Given the description of an element on the screen output the (x, y) to click on. 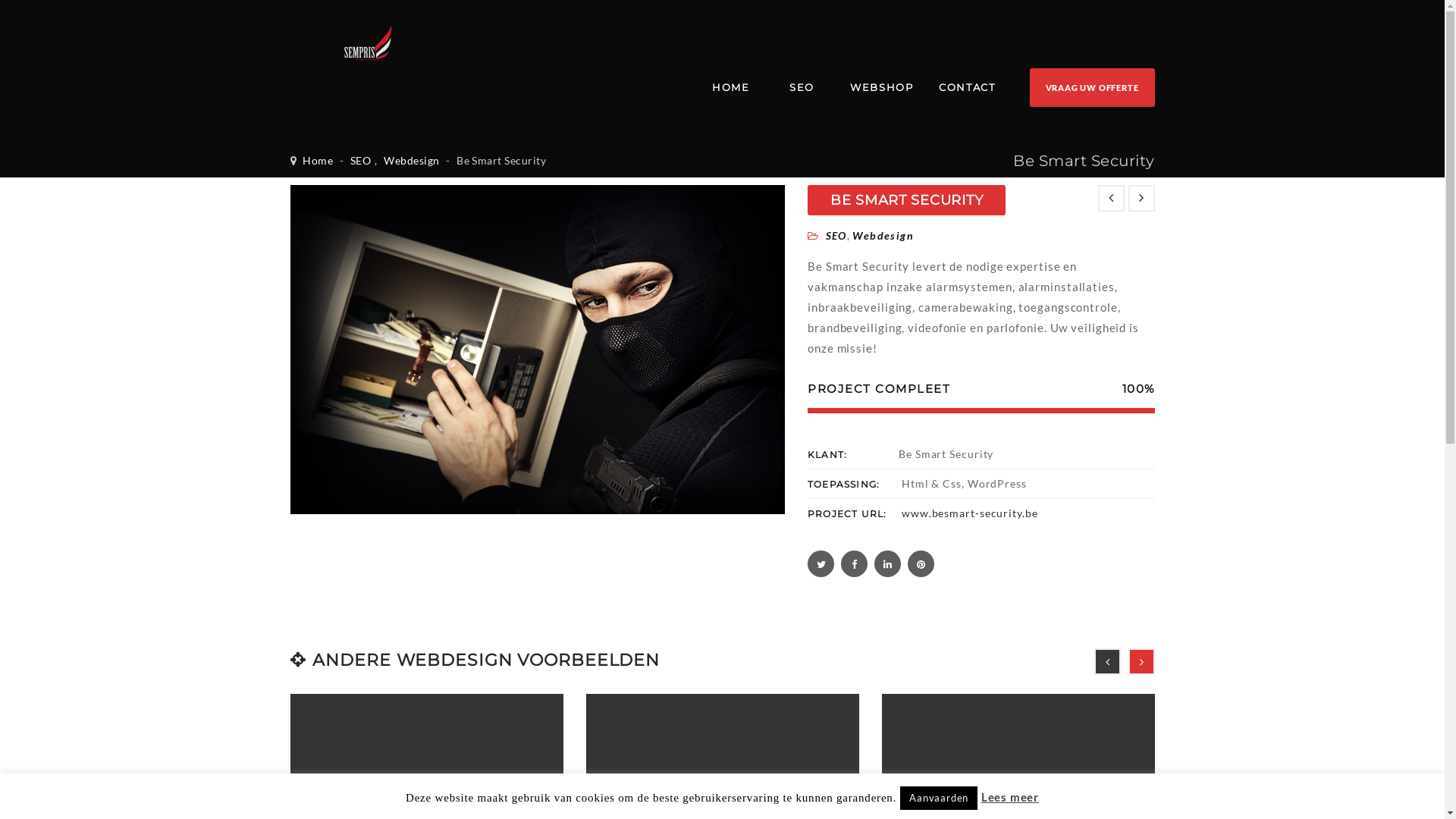
CONTACT Element type: text (966, 87)
HOME Element type: text (730, 87)
facebook Element type: text (853, 563)
SEO Element type: text (360, 159)
Lees meer Element type: text (1009, 796)
Home Element type: text (317, 159)
Webdesign Element type: text (410, 159)
Webdesign Element type: text (882, 235)
SEO Element type: text (836, 235)
pinterest Element type: text (920, 563)
NEWEST POSTS Element type: text (1111, 198)
VRAAG UW OFFERTE Element type: text (1092, 87)
twitter Element type: text (820, 563)
SEO Element type: text (801, 87)
www.besmart-security.be Element type: text (969, 512)
SIGN IN Element type: text (712, 227)
Aanvaarden Element type: text (938, 797)
OLDER POSTS Element type: text (1141, 198)
WEBSHOP Element type: text (881, 87)
linkedin Element type: text (887, 563)
